Given the description of an element on the screen output the (x, y) to click on. 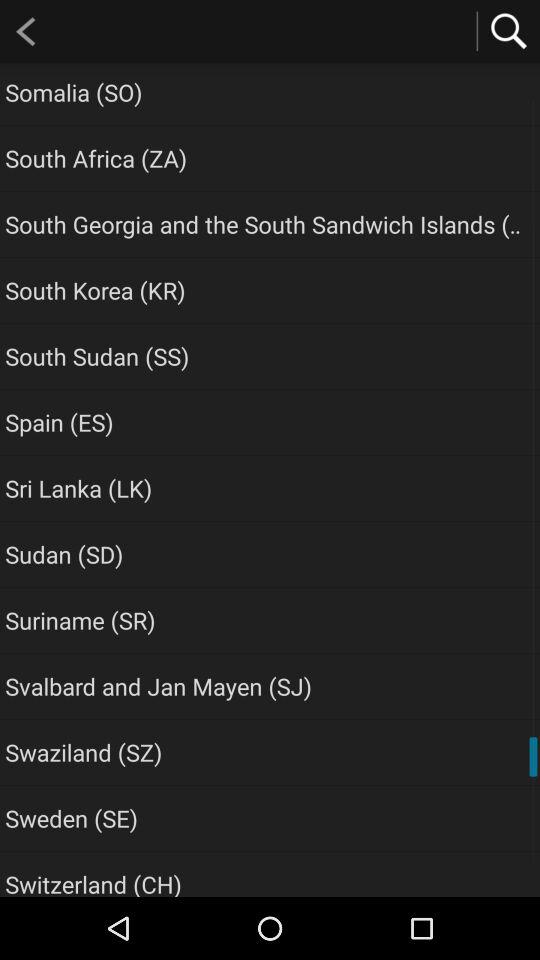
jump until spain (es) item (59, 422)
